Given the description of an element on the screen output the (x, y) to click on. 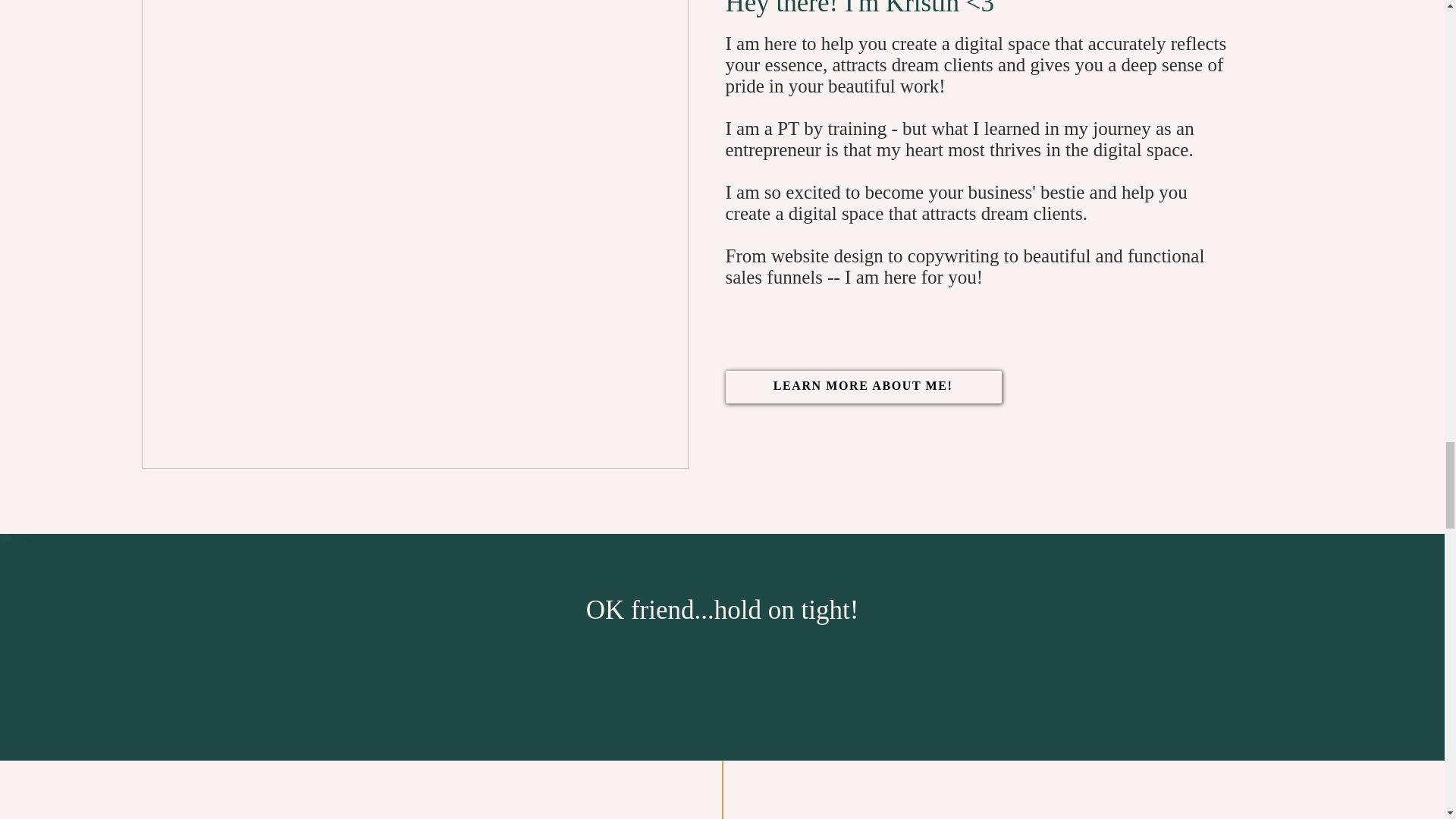
LEARN MORE ABOUT ME! (863, 387)
